Given the description of an element on the screen output the (x, y) to click on. 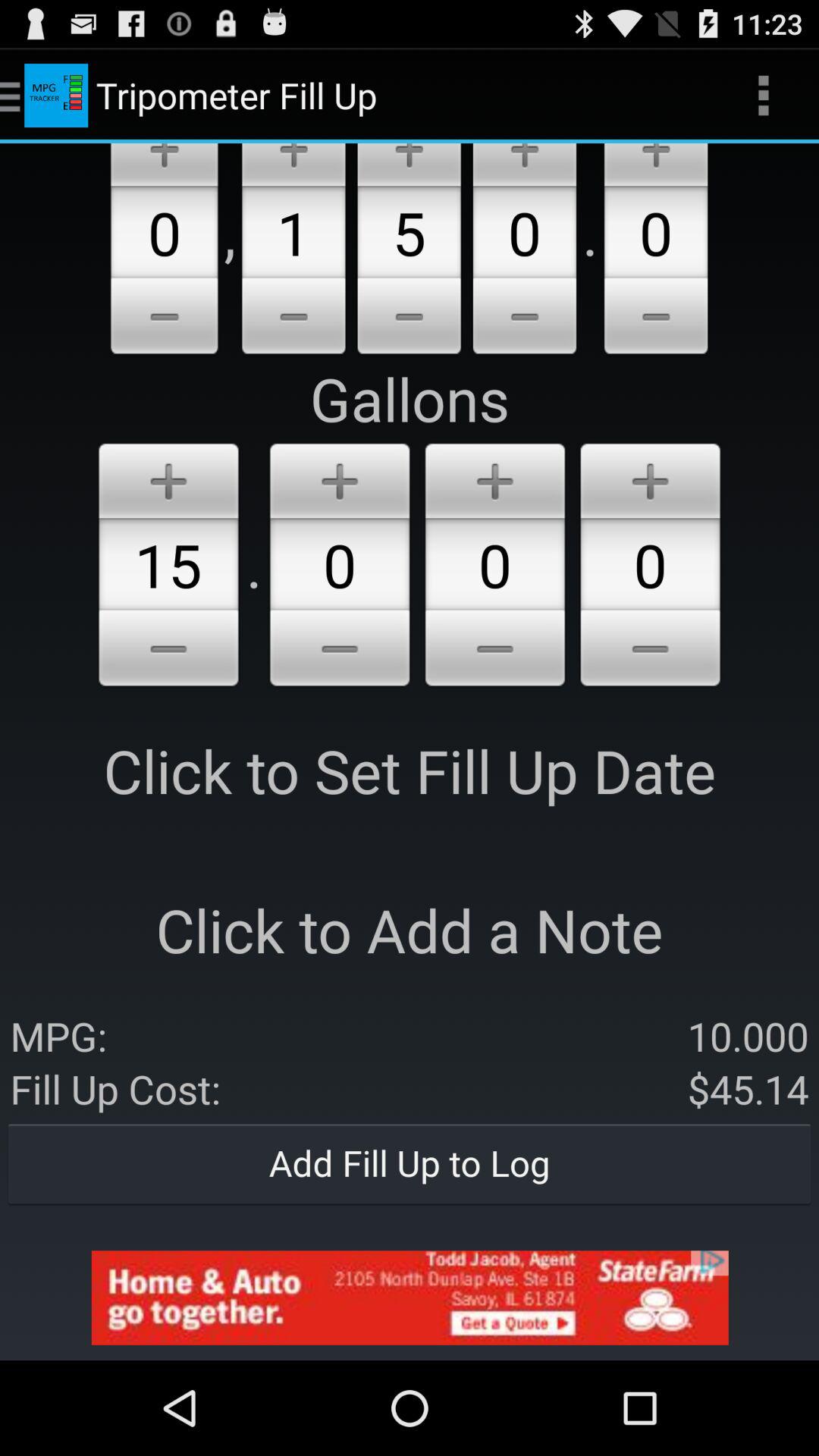
click to the add number (494, 478)
